Given the description of an element on the screen output the (x, y) to click on. 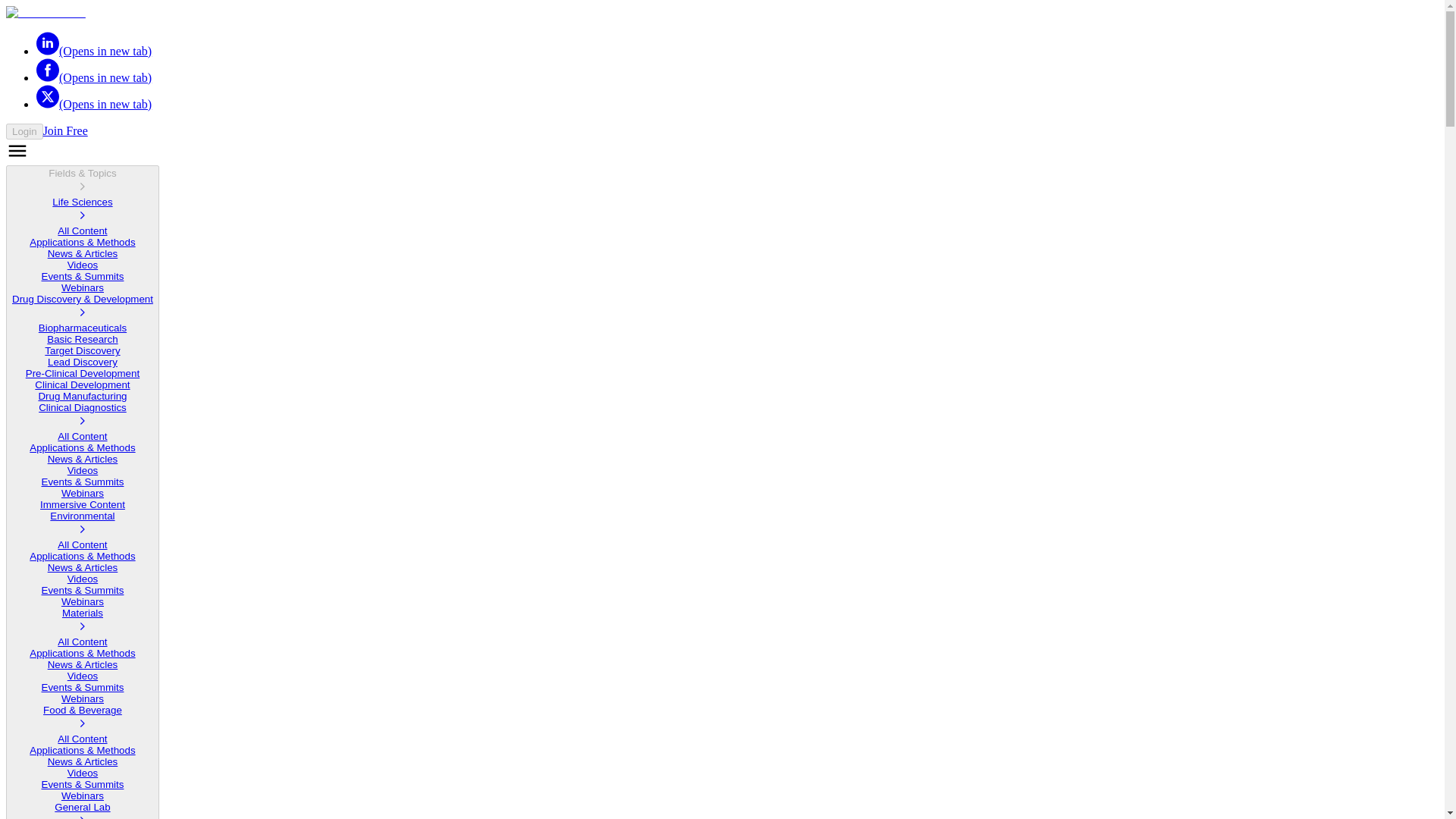
Videos (82, 470)
All Content (82, 230)
Clinical Development (81, 384)
Lead Discovery (82, 361)
Immersive Content (82, 504)
Basic Research (81, 338)
Webinars (82, 492)
Clinical Diagnostics (81, 416)
Videos (82, 265)
All Content (82, 641)
Login (24, 131)
All Content (82, 436)
Biopharmaceuticals (82, 327)
Drug Manufacturing (81, 396)
Materials (81, 621)
